Given the description of an element on the screen output the (x, y) to click on. 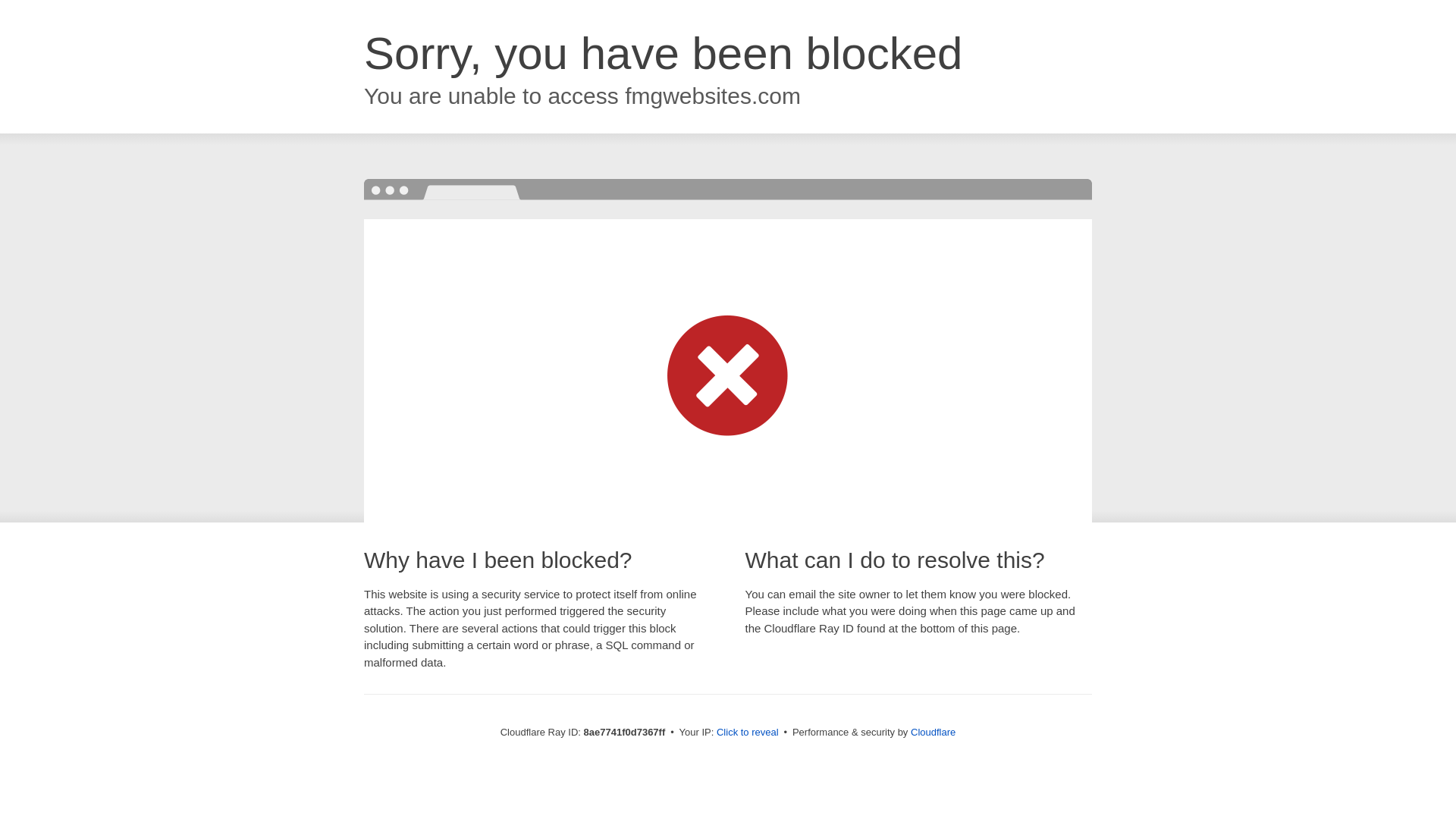
Cloudflare (933, 731)
Click to reveal (747, 732)
